Given the description of an element on the screen output the (x, y) to click on. 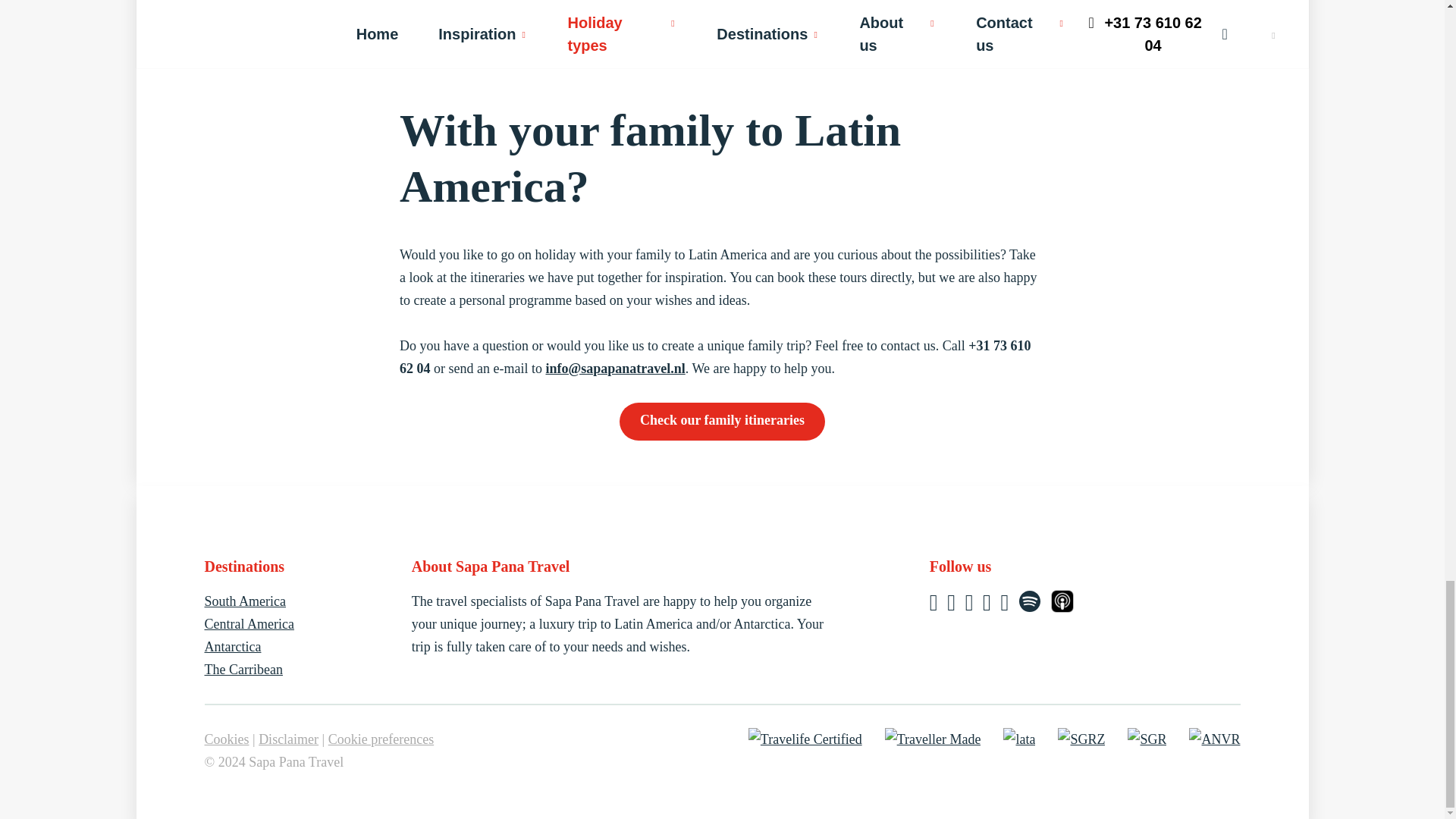
Apple Podcasts (1062, 605)
Spotify (1031, 605)
